Given the description of an element on the screen output the (x, y) to click on. 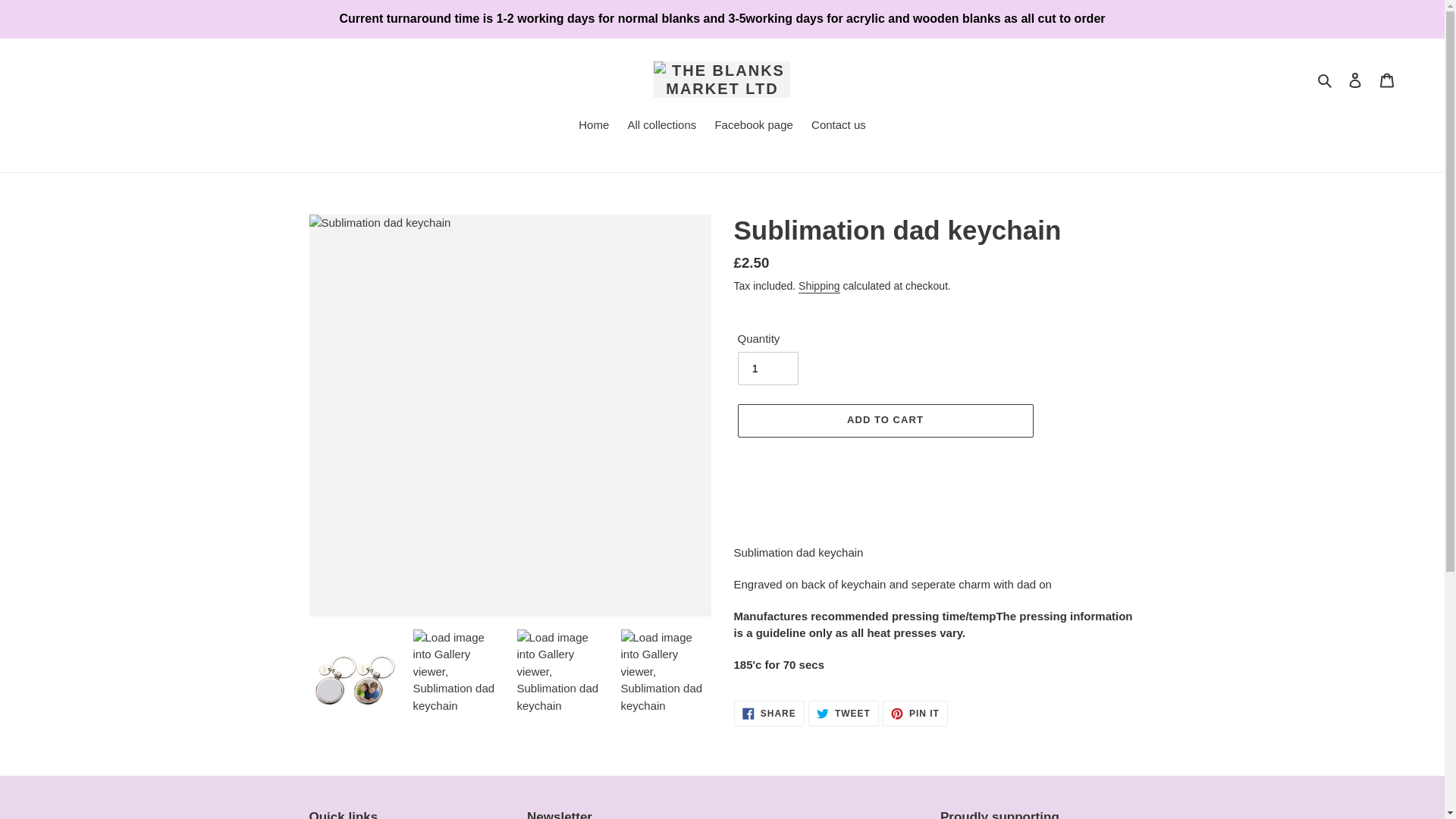
Cart (1387, 79)
Contact us (838, 126)
ADD TO CART (884, 420)
1 (914, 713)
Search (843, 713)
Log in (766, 368)
Facebook page (1326, 79)
Shipping (1355, 79)
All collections (752, 126)
Home (818, 286)
